Given the description of an element on the screen output the (x, y) to click on. 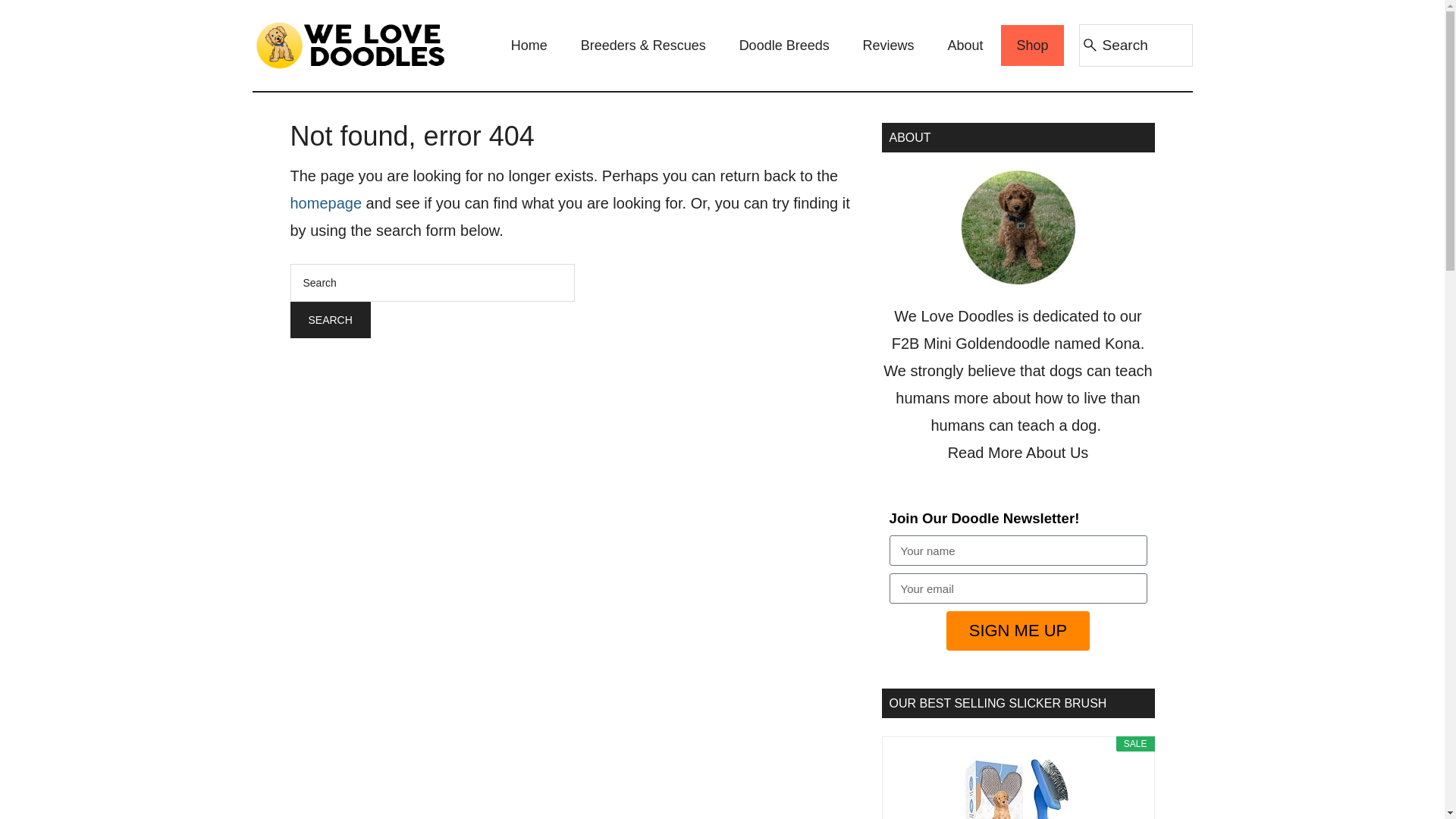
SIGN ME UP (1018, 630)
Search (329, 320)
We Love Doodles (349, 45)
About (965, 45)
Read More About Us (1018, 452)
We Love Doodles Slicker Brush (1017, 787)
homepage (325, 202)
Search (329, 320)
Search (329, 320)
Doodle Breeds (783, 45)
Home (529, 45)
Shop (1031, 45)
